Given the description of an element on the screen output the (x, y) to click on. 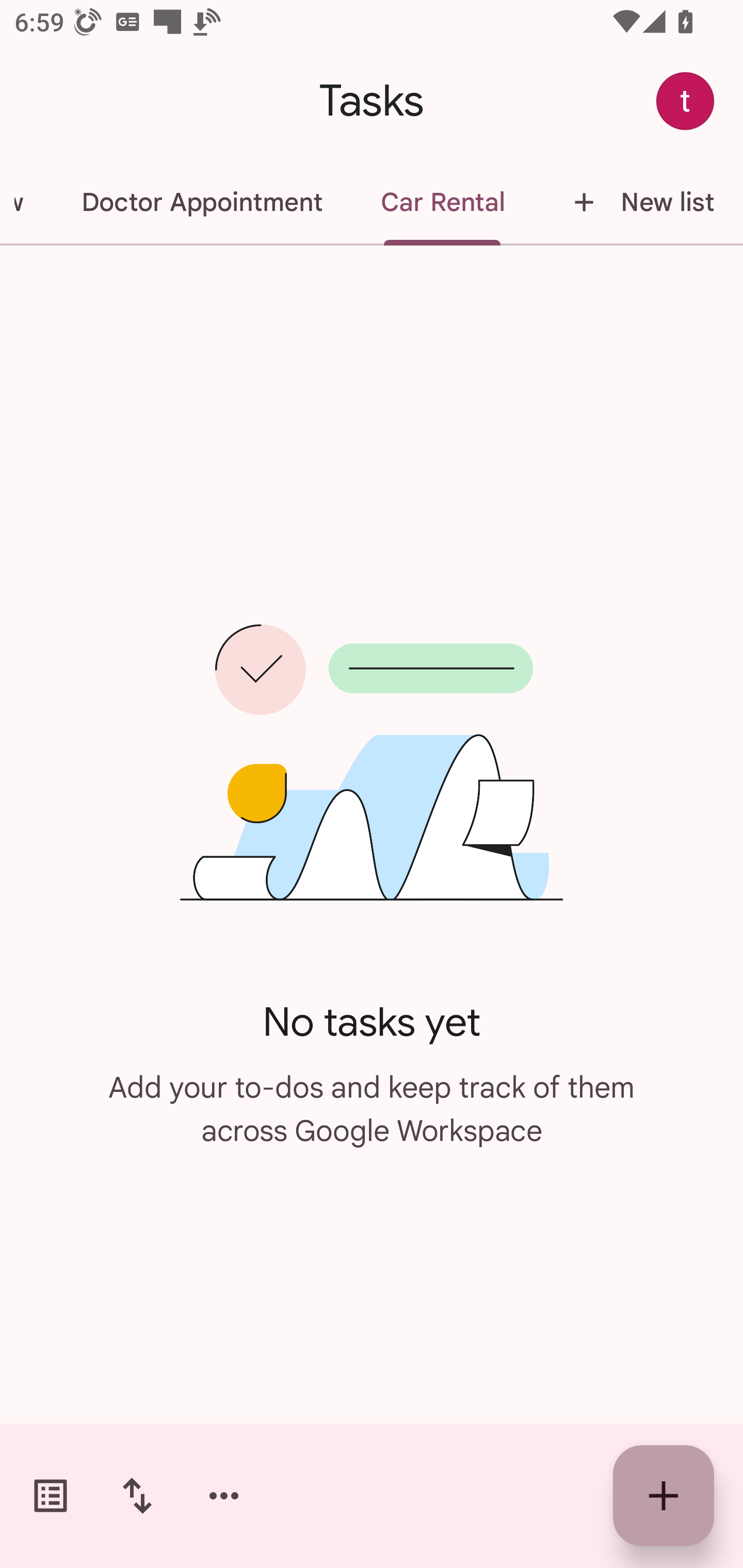
Doctor Appointment (201, 202)
New list (638, 202)
Switch task lists (50, 1495)
Create new task (663, 1495)
Change sort order (136, 1495)
More options (223, 1495)
